Given the description of an element on the screen output the (x, y) to click on. 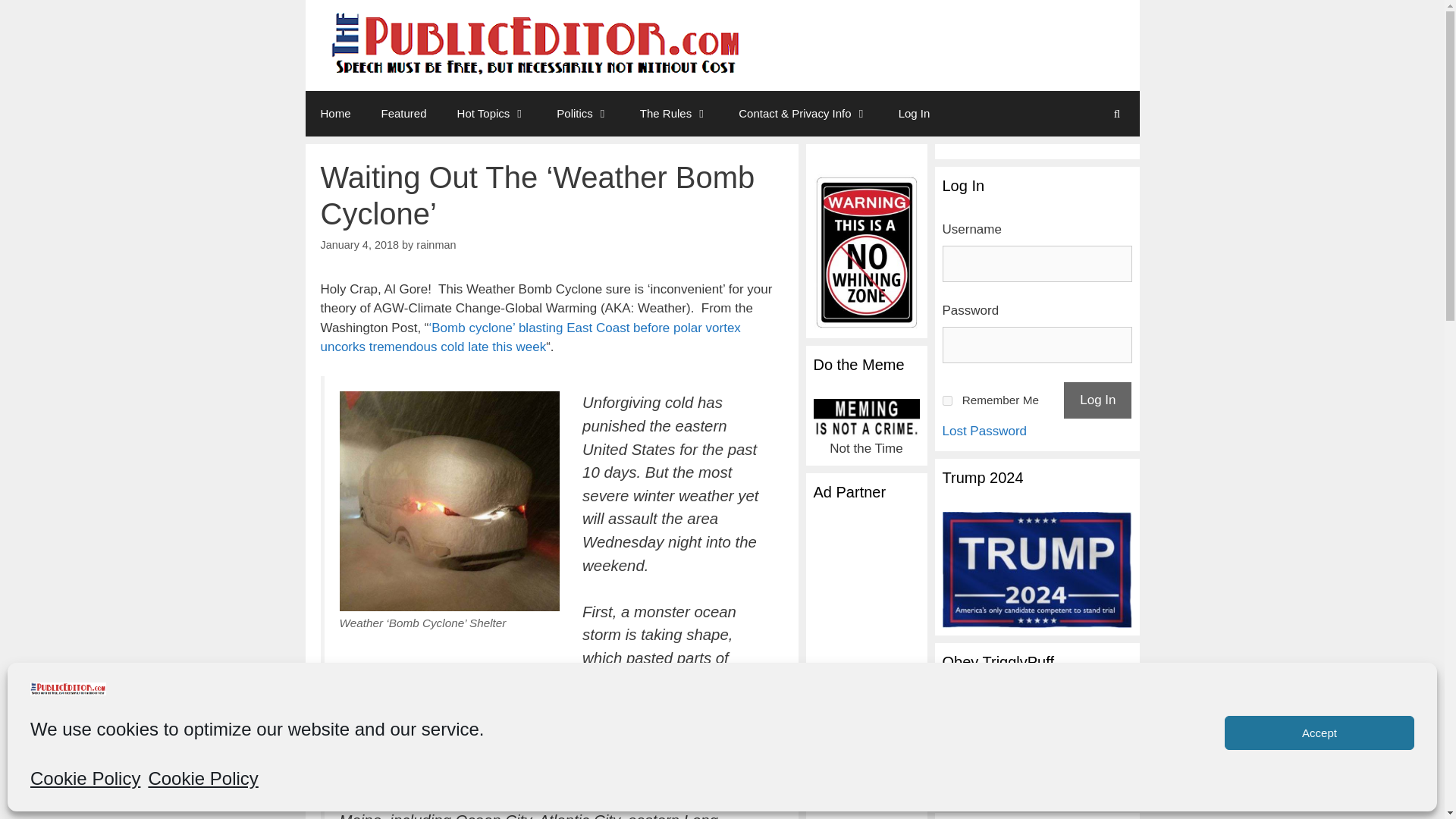
Accept (1318, 732)
View all posts by rainman (435, 244)
forever (947, 400)
Advertisement (938, 33)
Cookie Policy (202, 778)
Log In (1097, 400)
Cookie Policy (84, 778)
